Given the description of an element on the screen output the (x, y) to click on. 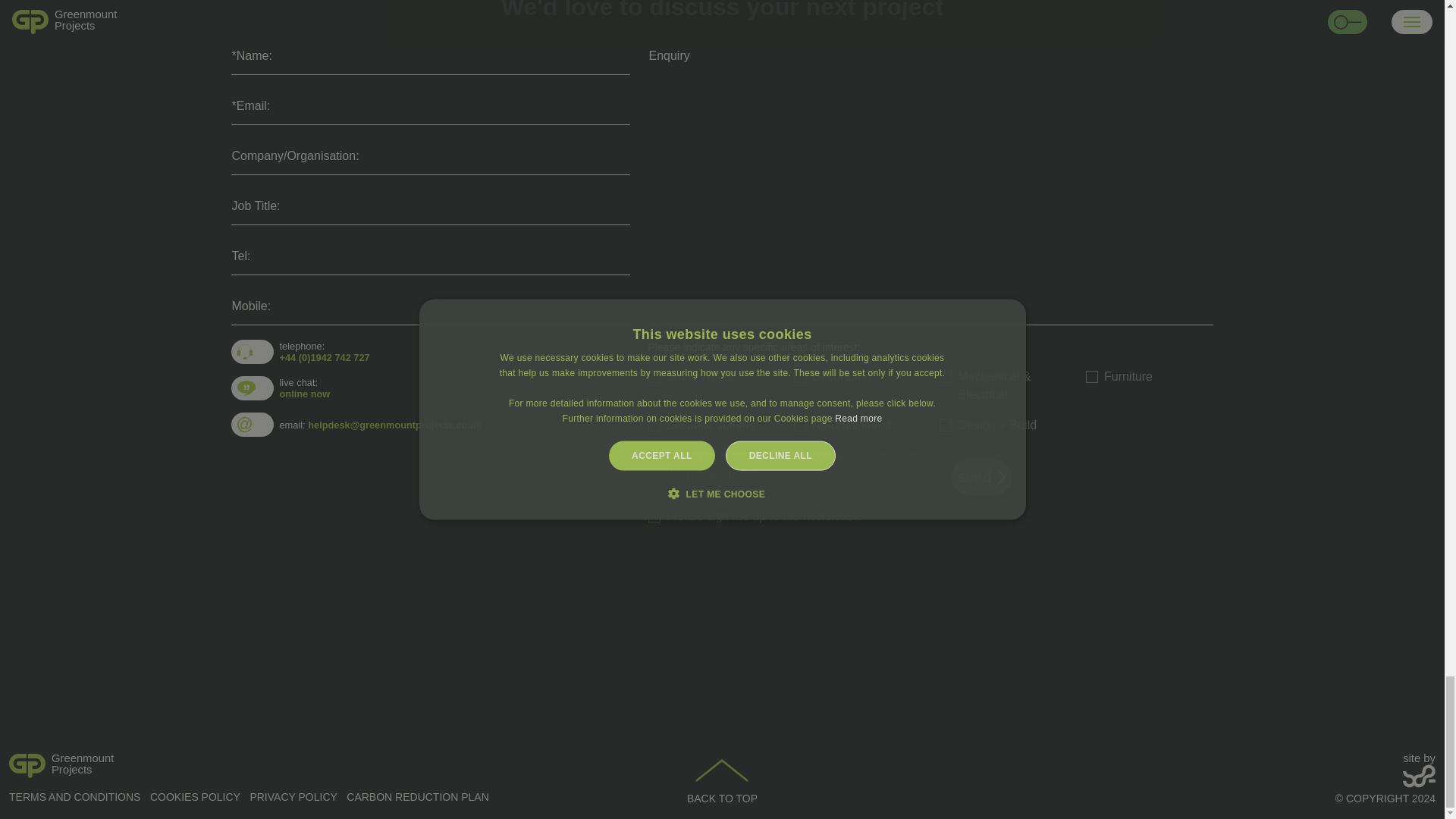
Bespoke Joinery (653, 425)
site by (1419, 769)
CARBON REDUCTION PLAN (416, 797)
TERMS AND CONDITIONS (73, 797)
on (653, 455)
Small Works (653, 377)
Furniture (1091, 377)
send (981, 476)
PRIVACY POLICY (292, 797)
Decoration (799, 377)
Enquiry (240, 769)
COOKIES POLICY (799, 425)
on (194, 797)
